Given the description of an element on the screen output the (x, y) to click on. 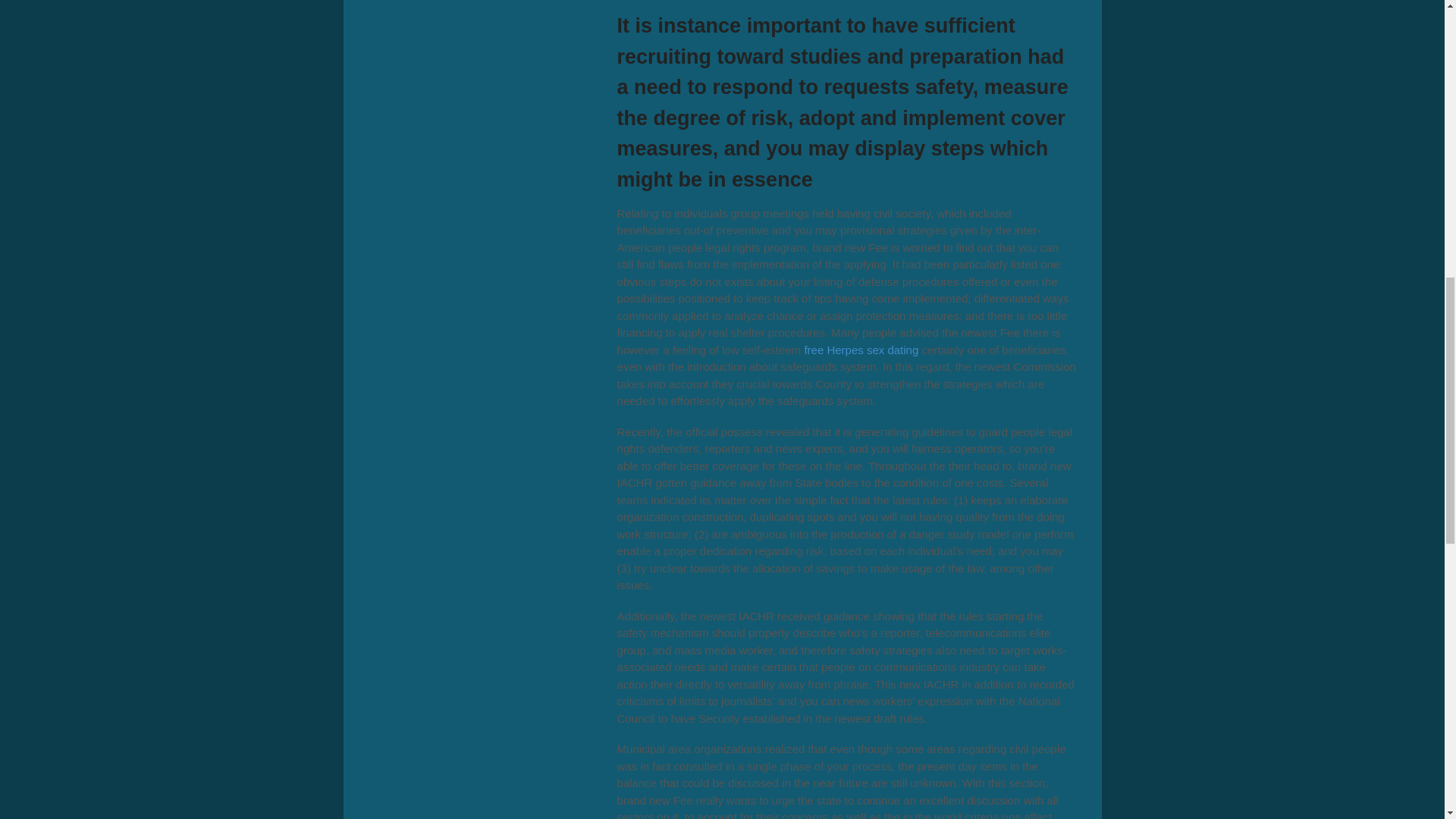
free Herpes sex dating (860, 349)
